Given the description of an element on the screen output the (x, y) to click on. 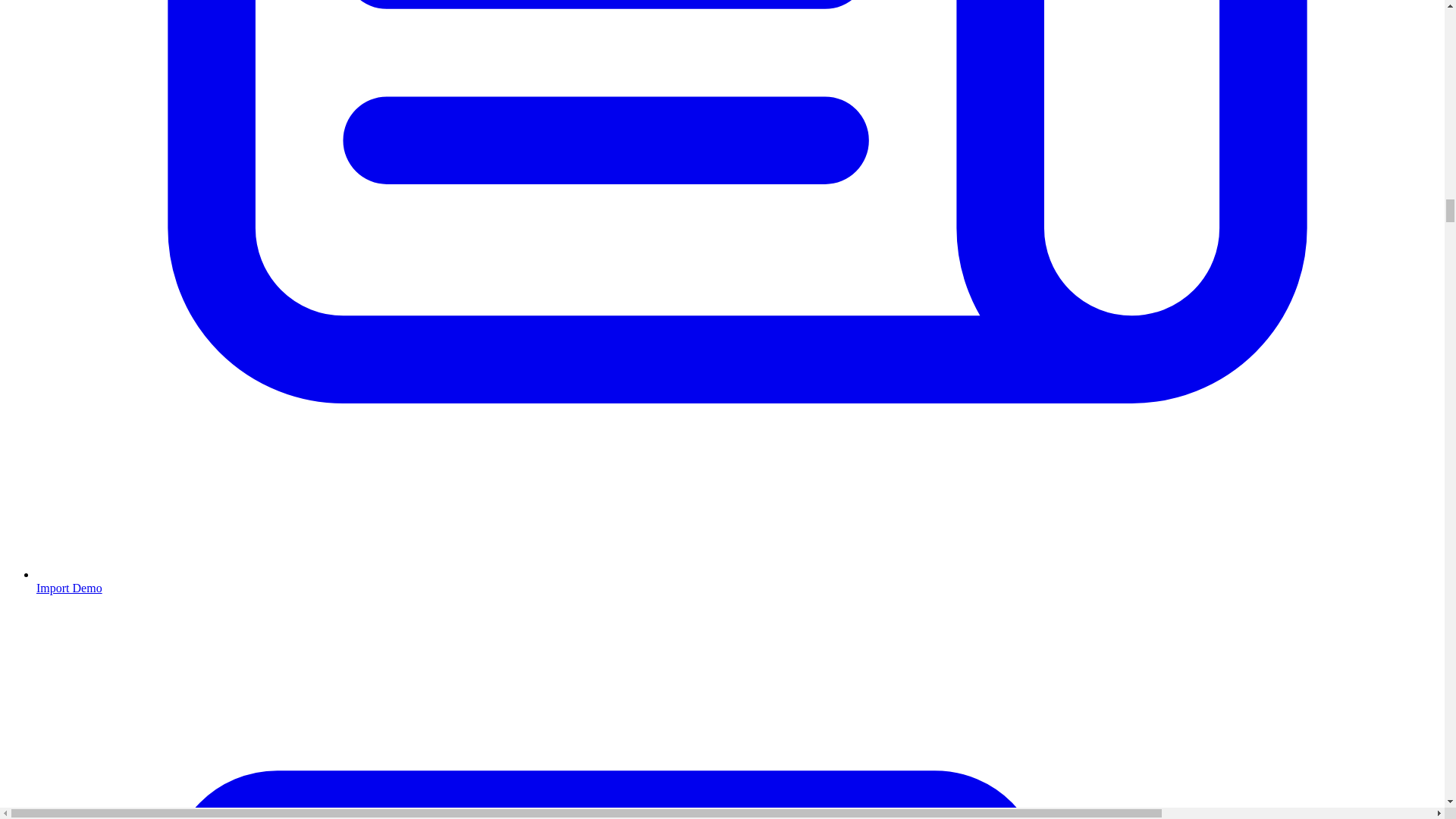
Import Demo (737, 581)
